Given the description of an element on the screen output the (x, y) to click on. 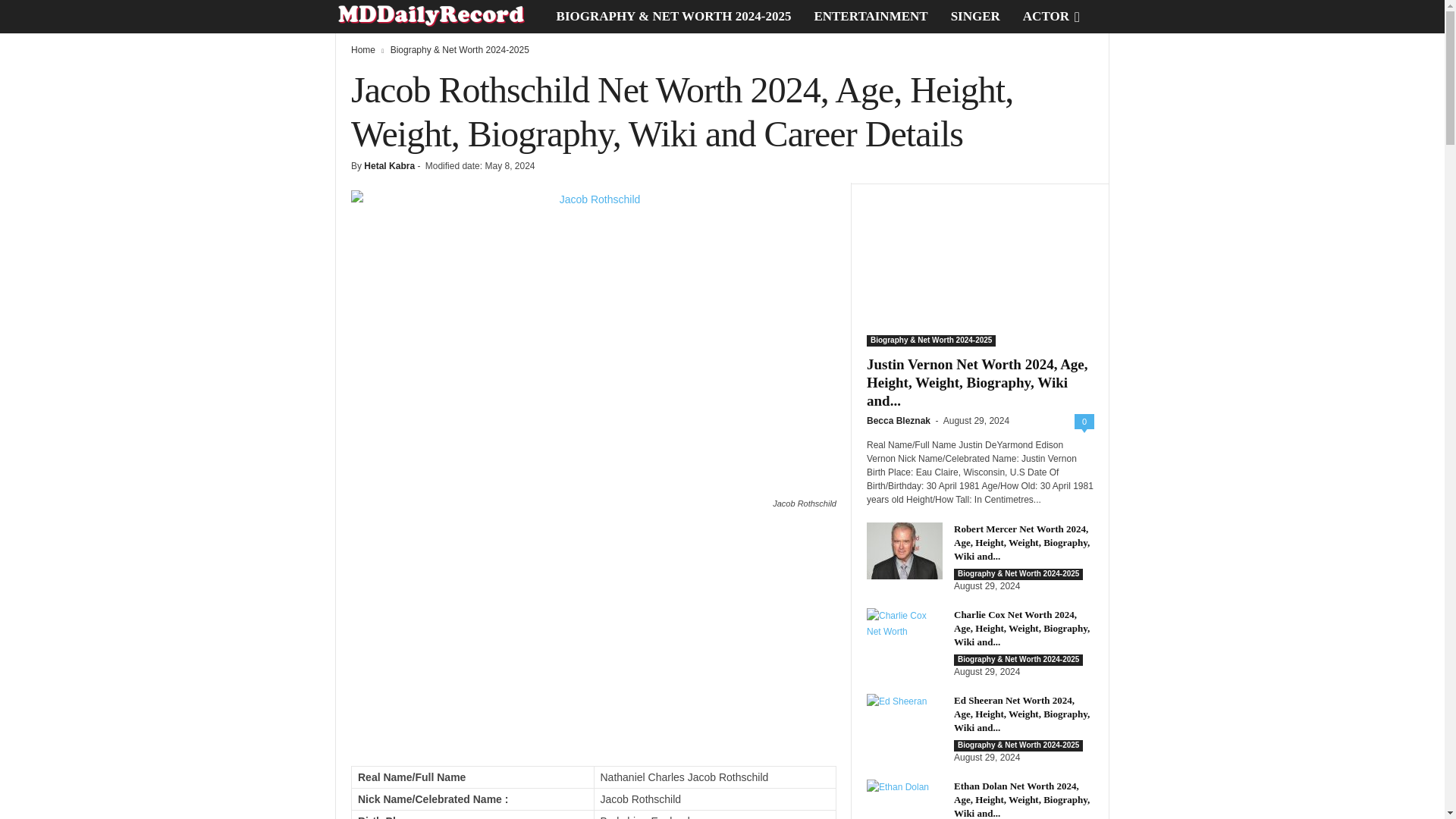
ENTERTAINMENT (870, 16)
Hetal Kabra (389, 165)
Home (362, 50)
Advertisement (592, 644)
MD Daily Record (439, 16)
ACTOR (1045, 16)
SINGER (975, 16)
